Given the description of an element on the screen output the (x, y) to click on. 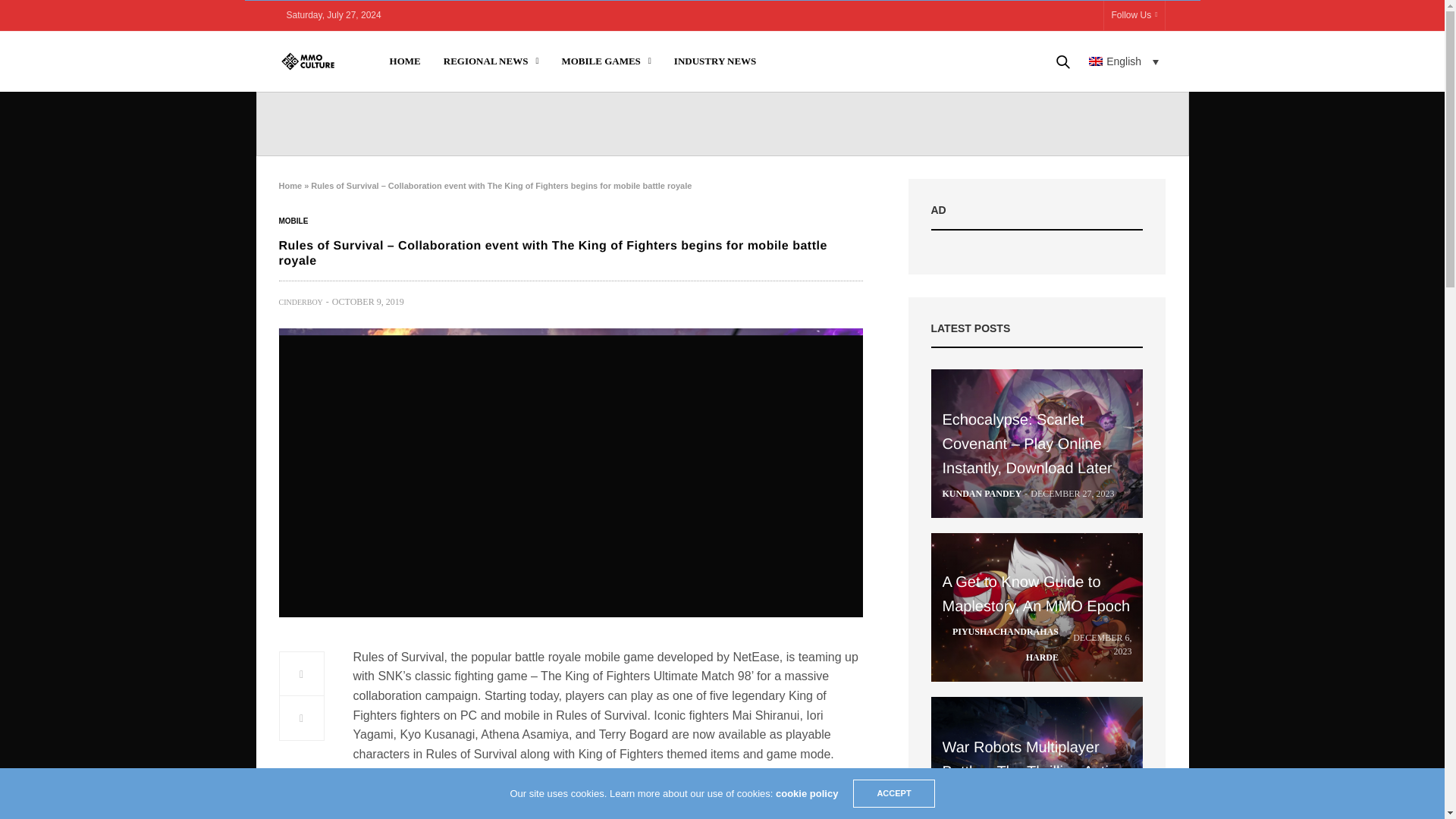
Home (290, 185)
REGIONAL NEWS (491, 61)
English (1123, 61)
MOBILE GAMES (605, 61)
A Get to Know Guide to Maplestory, An MMO Epoch (1035, 594)
Saturday, July 27, 2024 (333, 15)
Posts by kundan pandey (982, 493)
Posts by cinderboy (301, 302)
Mobile (293, 221)
HOME (405, 61)
INDUSTRY NEWS (715, 61)
Follow Us (1134, 15)
Search (1041, 112)
A Get to Know Guide to Maplestory, An MMO Epoch (1036, 607)
